Given the description of an element on the screen output the (x, y) to click on. 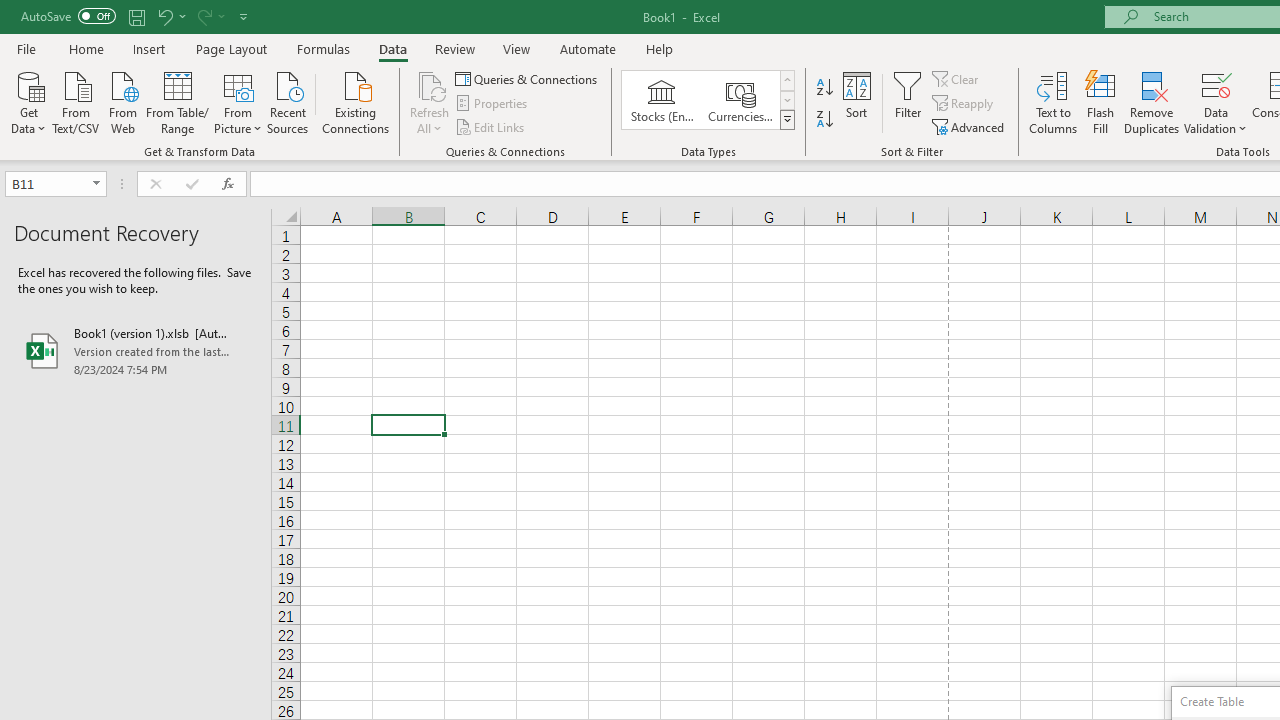
Sort A to Z (824, 87)
Sort... (856, 102)
Reapply (964, 103)
Properties (492, 103)
Text to Columns... (1053, 102)
Queries & Connections (527, 78)
From Table/Range (177, 101)
AutomationID: ConvertToLinkedEntity (708, 99)
